Given the description of an element on the screen output the (x, y) to click on. 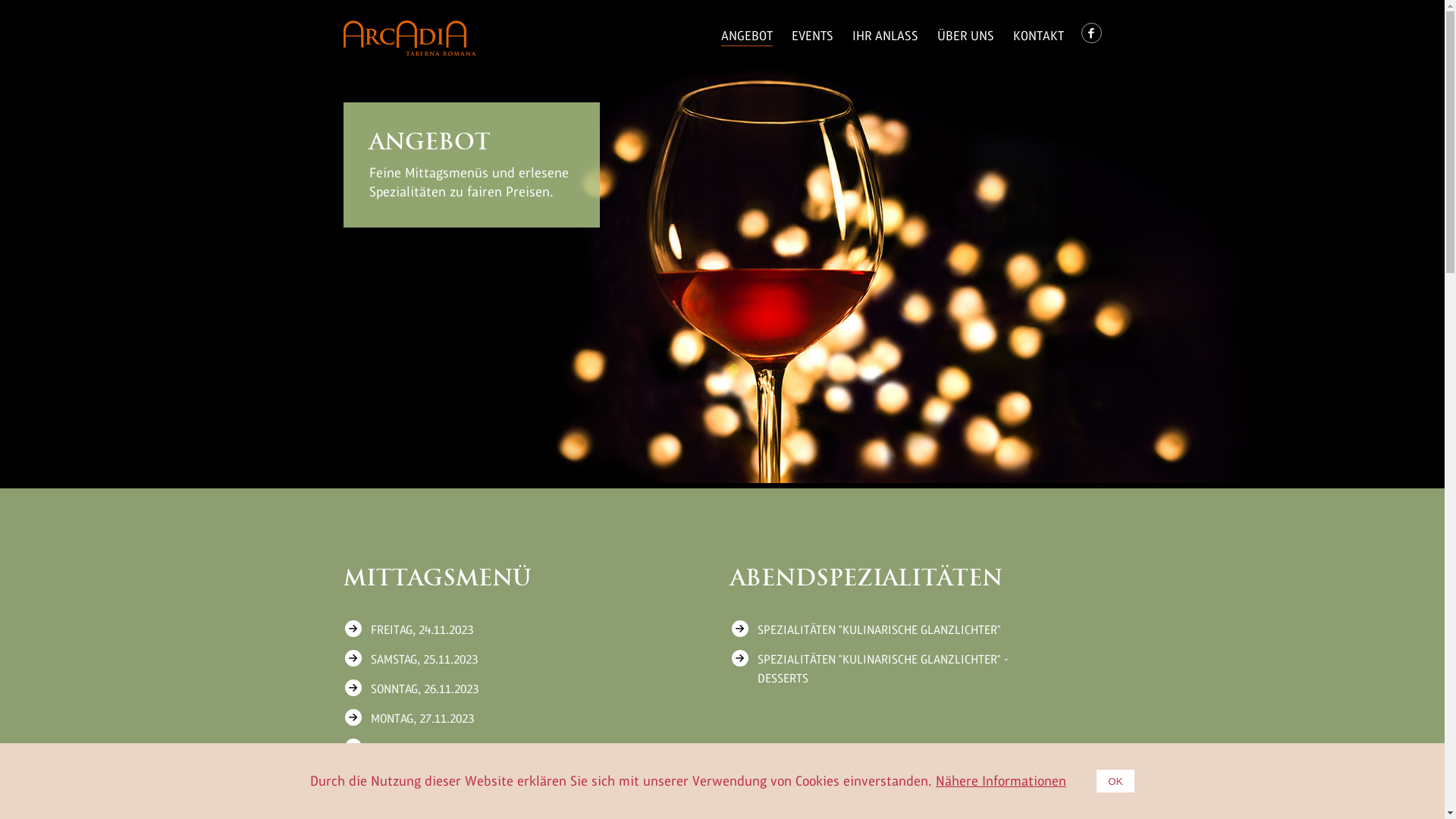
MONTAG, 27.11.2023 Element type: text (501, 718)
FREITAG, 24.11.2023 Element type: text (501, 629)
MITTWOCH, 29.11.2023 Element type: text (501, 777)
SONNTAG, 26.11.2023 Element type: text (501, 688)
OK Element type: text (1115, 780)
EVENTS Element type: text (812, 35)
DIENSTAG, 28.11.2023 Element type: text (501, 747)
SAMSTAG, 25.11.2023 Element type: text (501, 659)
  Element type: text (1091, 40)
IHR ANLASS Element type: text (885, 35)
KONTAKT Element type: text (1038, 35)
